Given the description of an element on the screen output the (x, y) to click on. 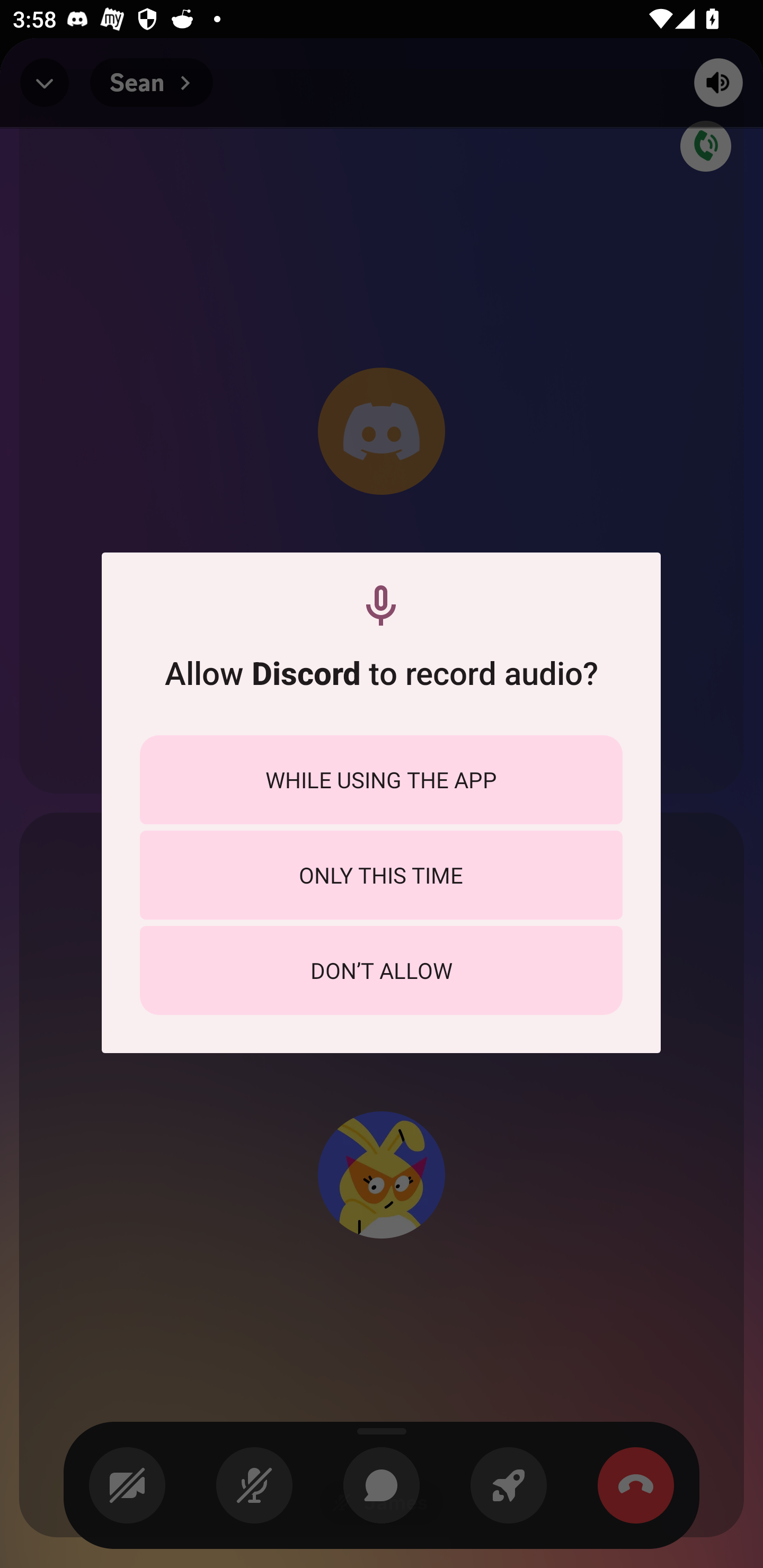
WHILE USING THE APP (380, 779)
ONLY THIS TIME (380, 874)
DON’T ALLOW (380, 970)
